Given the description of an element on the screen output the (x, y) to click on. 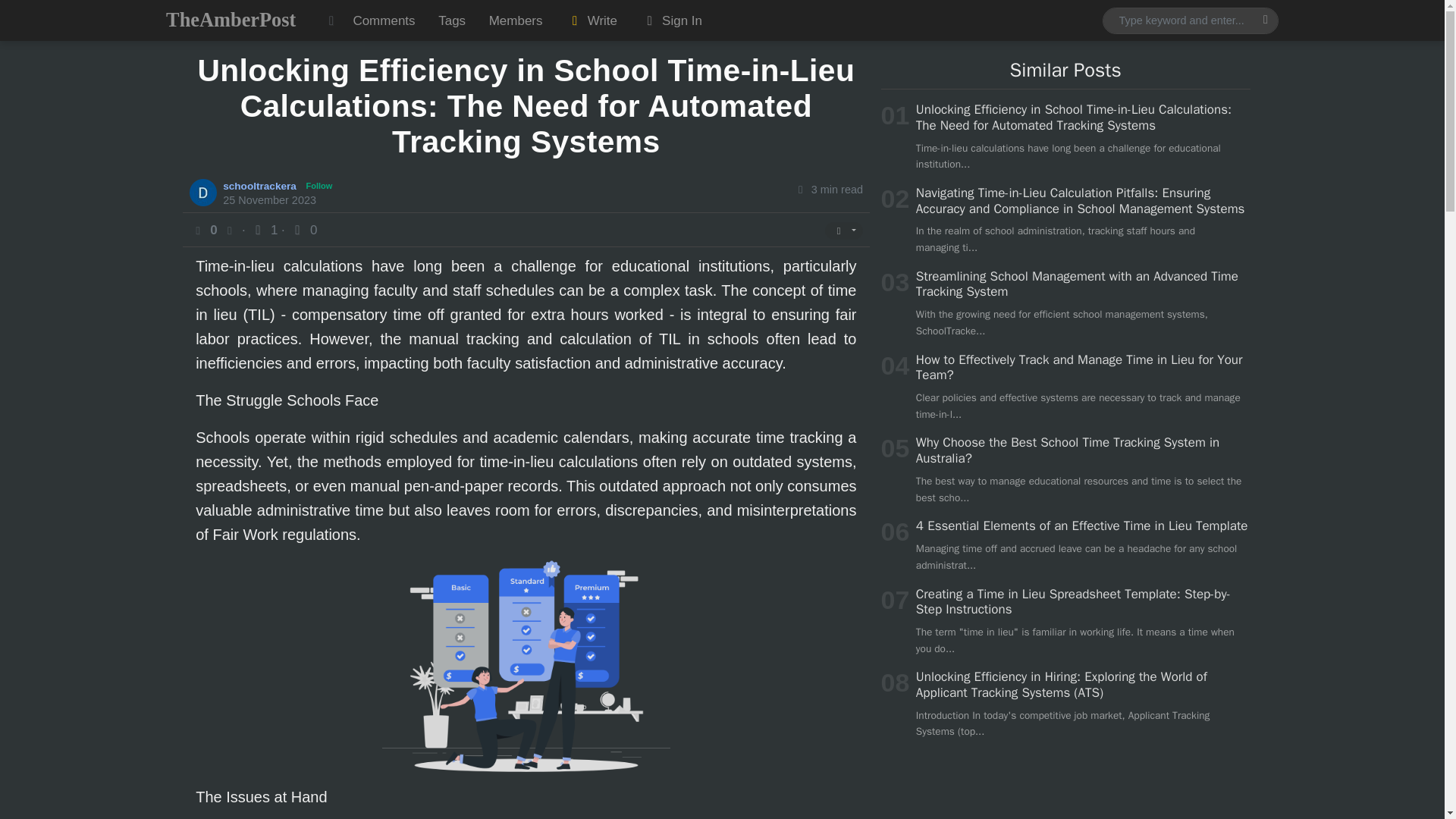
Views (264, 229)
Follow (319, 186)
4 Essential Elements of an Effective Time in Lieu Template (1081, 525)
Write (591, 20)
Tags (451, 20)
TheAmberPost (230, 20)
Toggle dark mode (330, 20)
Comments (383, 20)
schooltrackera (260, 185)
